Given the description of an element on the screen output the (x, y) to click on. 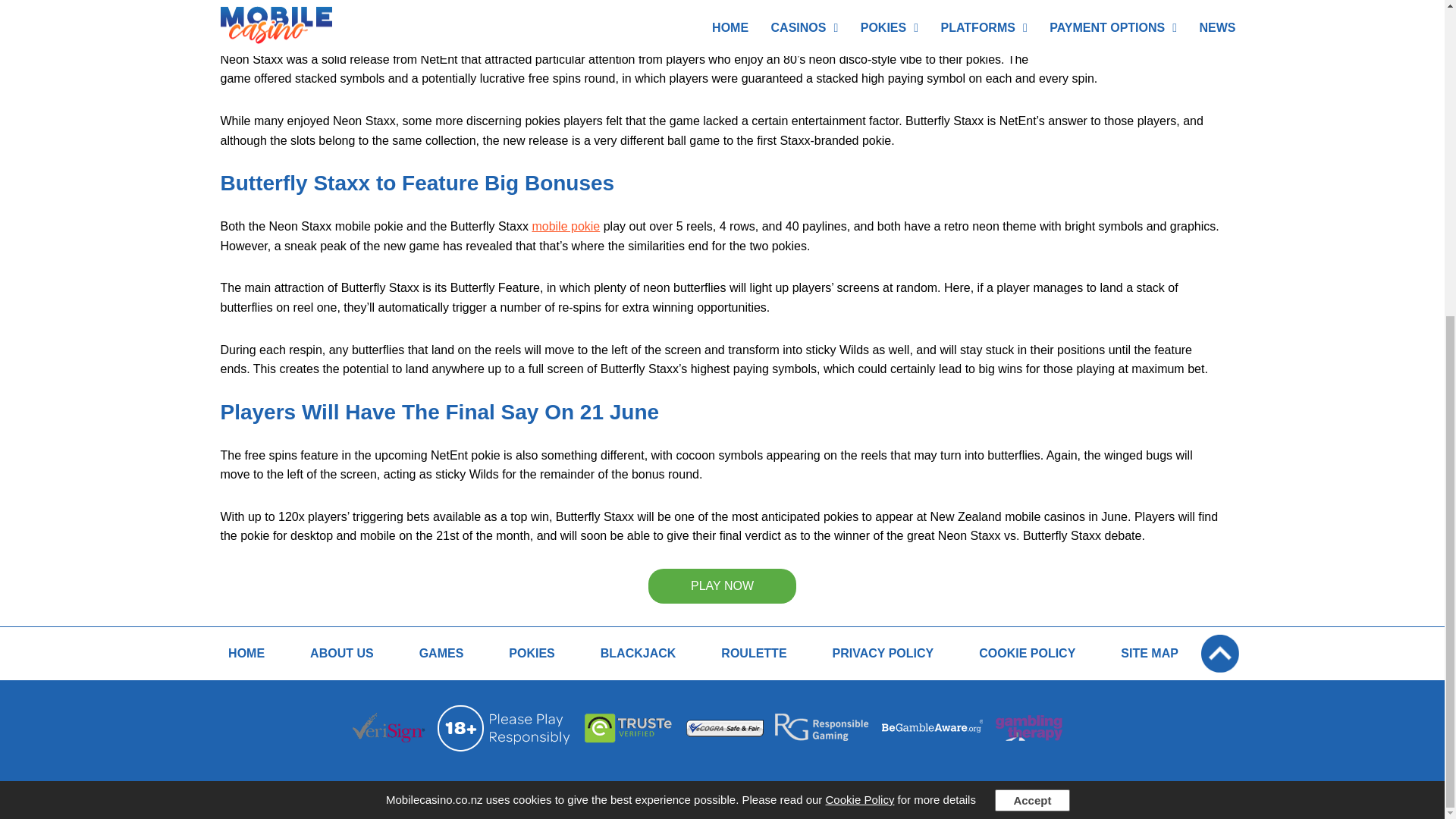
ABOUT US (341, 653)
HOME (246, 653)
mobile pokie (565, 226)
BLACKJACK (638, 653)
ROULETTE (753, 653)
PRIVACY POLICY (883, 653)
COOKIE POLICY (1027, 653)
PLAY NOW (721, 585)
GAMES (441, 653)
PLAY NOW (721, 13)
